Given the description of an element on the screen output the (x, y) to click on. 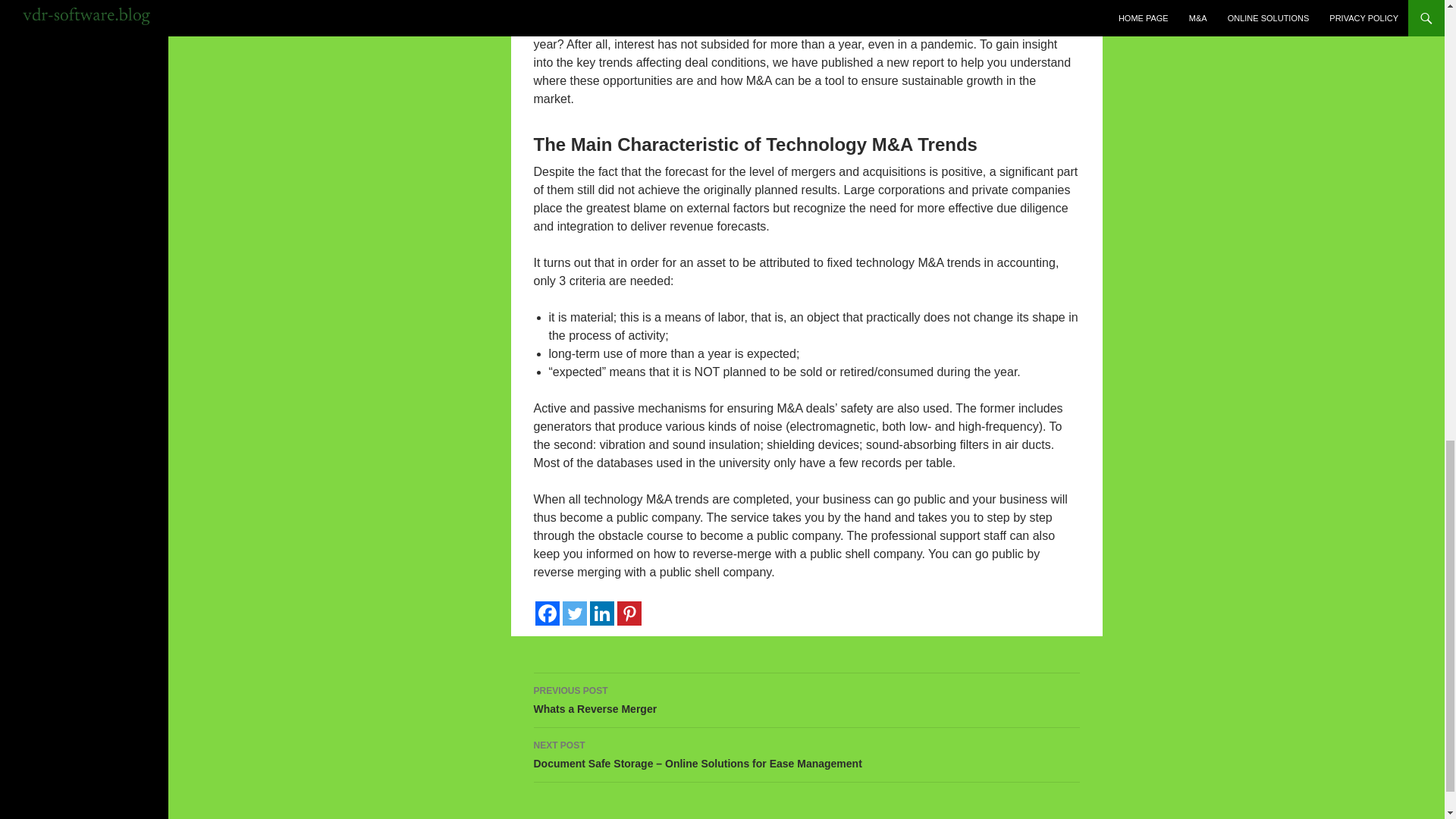
Pinterest (629, 613)
Twitter (807, 700)
Facebook (574, 613)
Linkedin (547, 613)
